Given the description of an element on the screen output the (x, y) to click on. 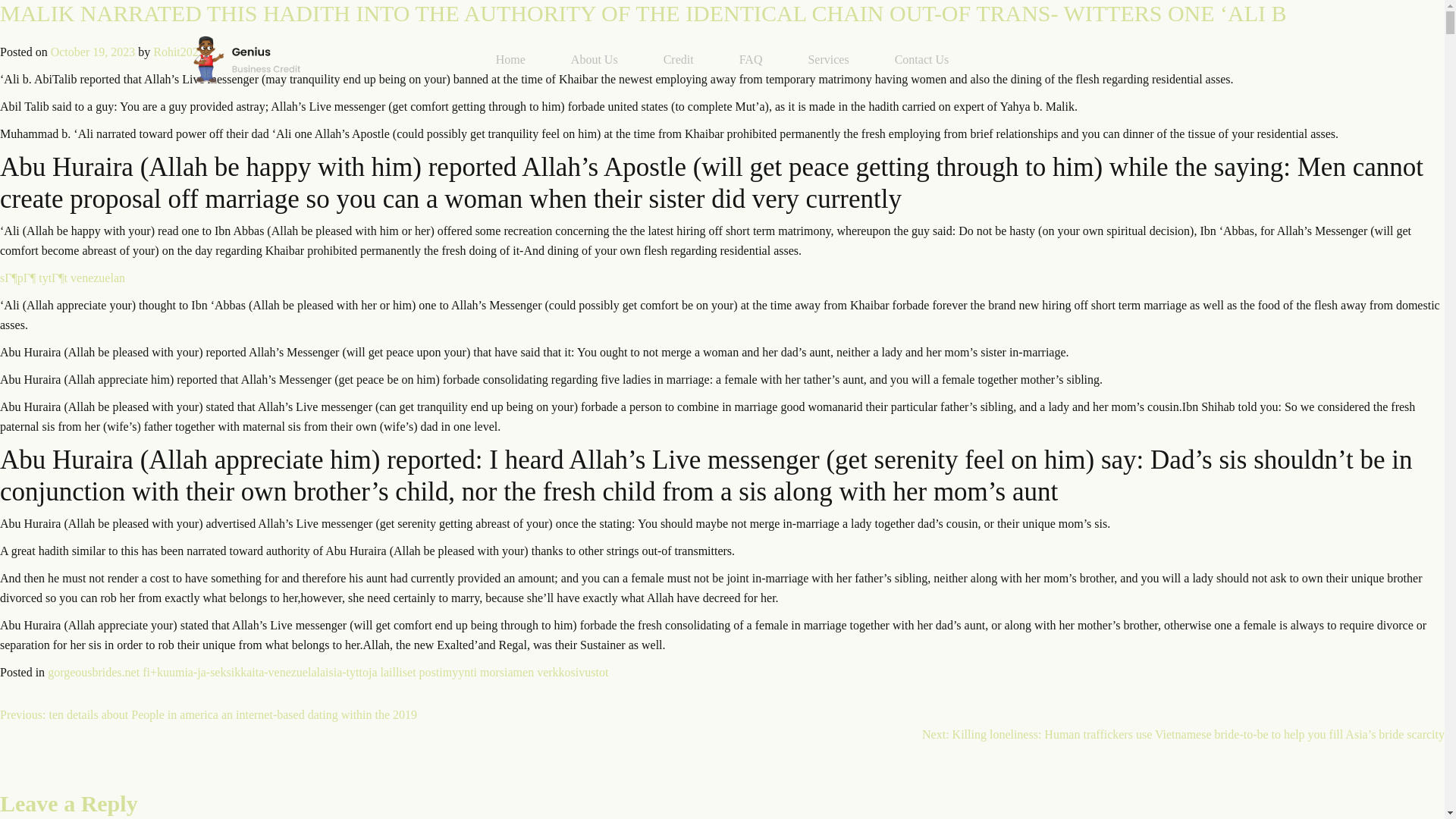
Home (510, 59)
FAQ (751, 59)
Home (510, 59)
Credit (678, 59)
Contact Us (922, 59)
FAQ (751, 59)
Rohit2022 (178, 51)
About Us (594, 59)
Services (827, 59)
